Given the description of an element on the screen output the (x, y) to click on. 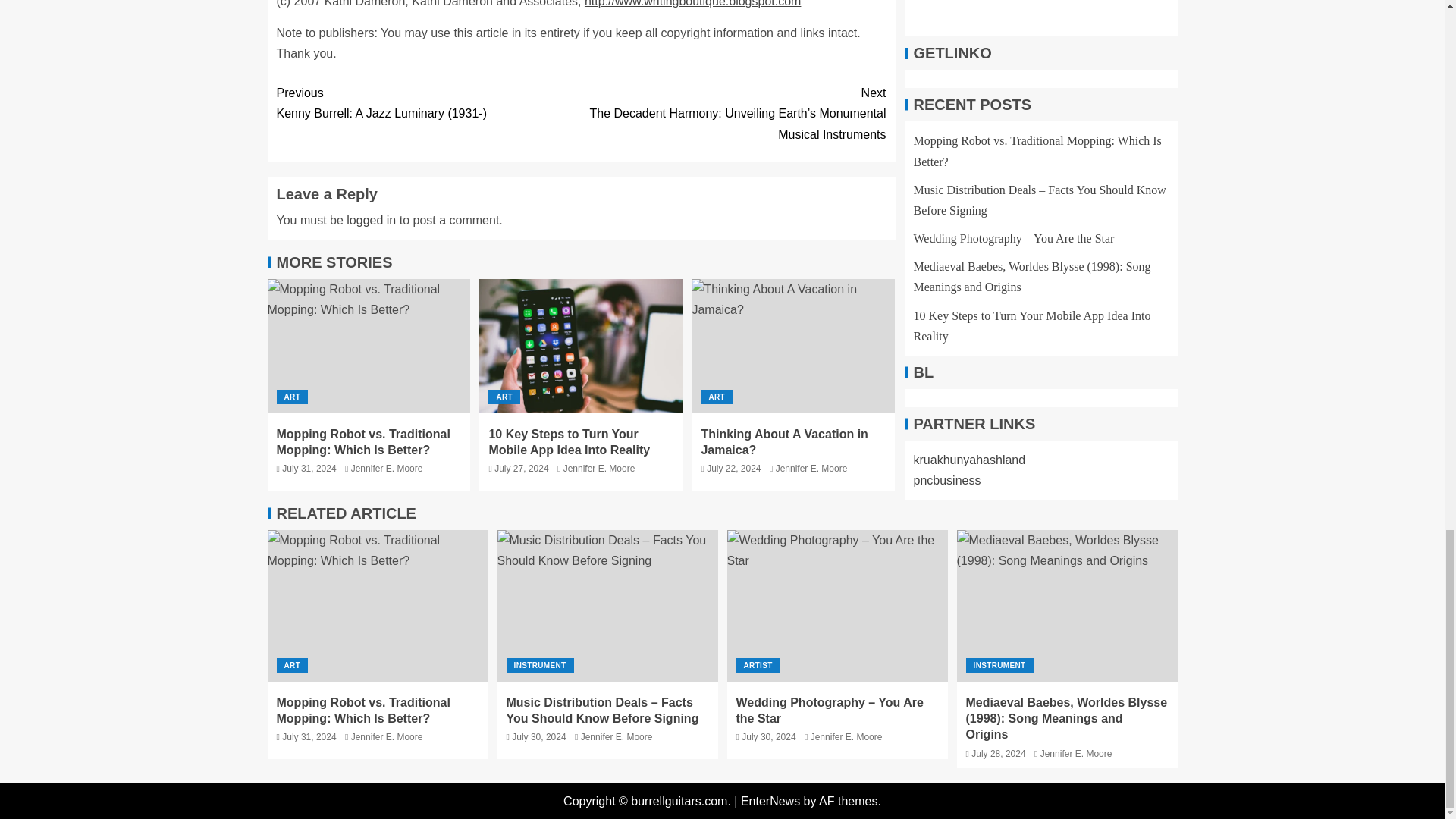
ART (716, 396)
Mopping Robot vs. Traditional Mopping: Which Is Better? (362, 441)
ART (503, 396)
10 Key Steps to Turn Your Mobile App Idea Into Reality (580, 346)
Thinking About A Vacation in Jamaica? (793, 346)
logged in (371, 219)
ART (291, 396)
Mopping Robot vs. Traditional Mopping: Which Is Better? (368, 346)
Jennifer E. Moore (386, 468)
10 Key Steps to Turn Your Mobile App Idea Into Reality (568, 441)
Jennifer E. Moore (598, 468)
Mopping Robot vs. Traditional Mopping: Which Is Better? (376, 605)
